Given the description of an element on the screen output the (x, y) to click on. 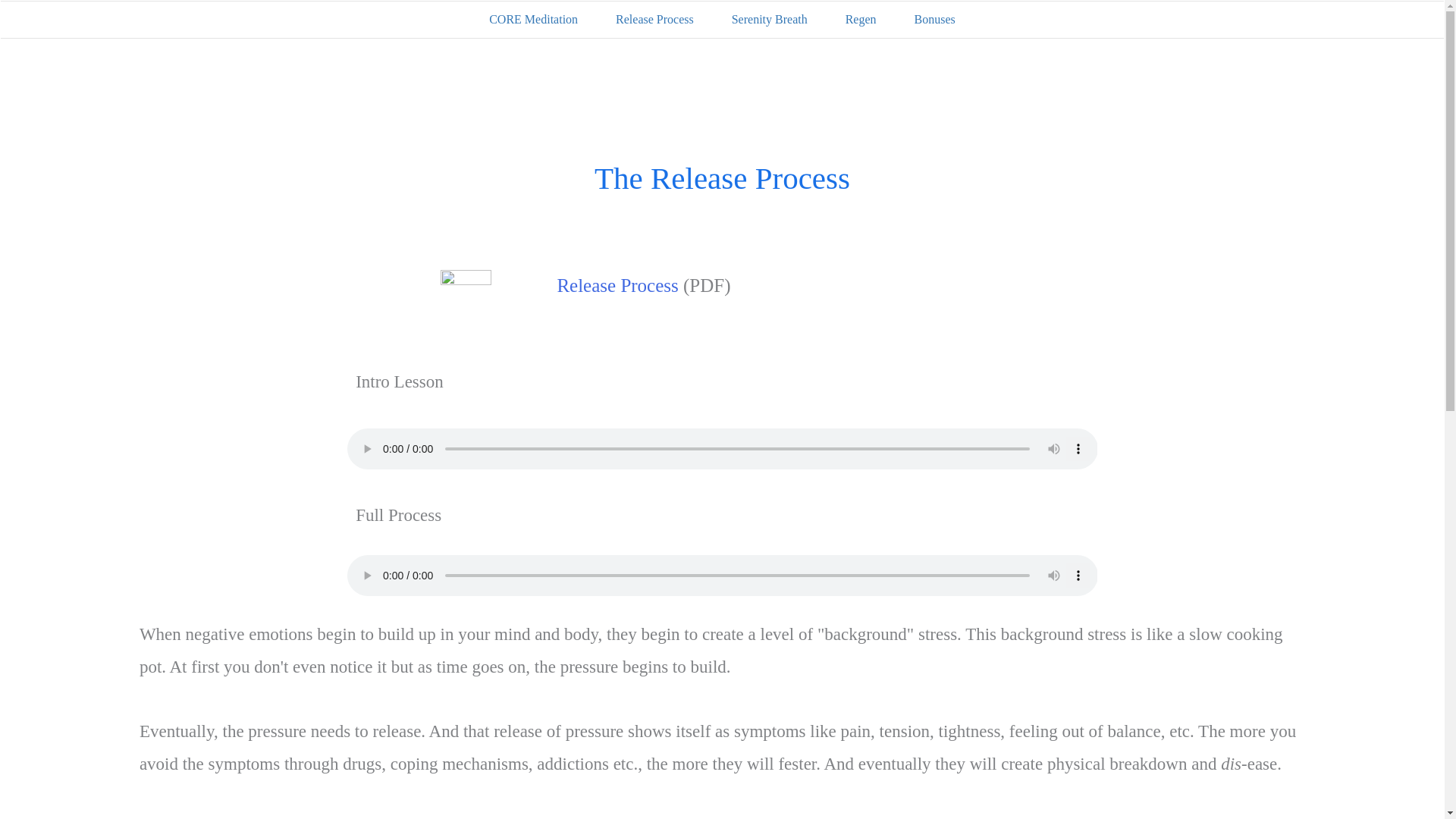
Release Process (654, 19)
Bonuses (934, 19)
PDF (466, 298)
Release Process (617, 285)
Serenity Breath (770, 19)
CORE Meditation (533, 19)
Regen (860, 19)
